Given the description of an element on the screen output the (x, y) to click on. 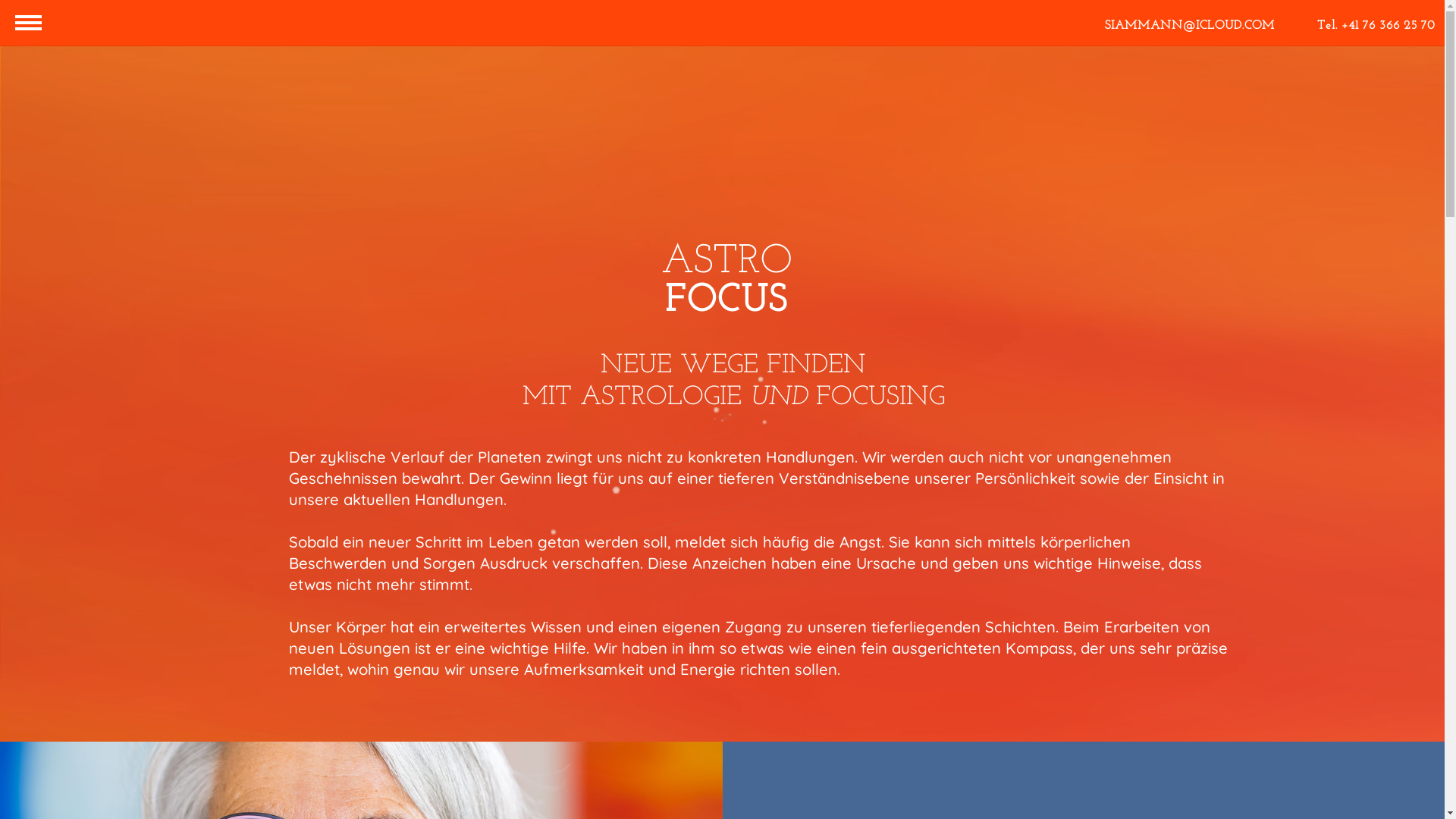
SIAMMANN@ICLOUD.COM Element type: text (1189, 25)
